Given the description of an element on the screen output the (x, y) to click on. 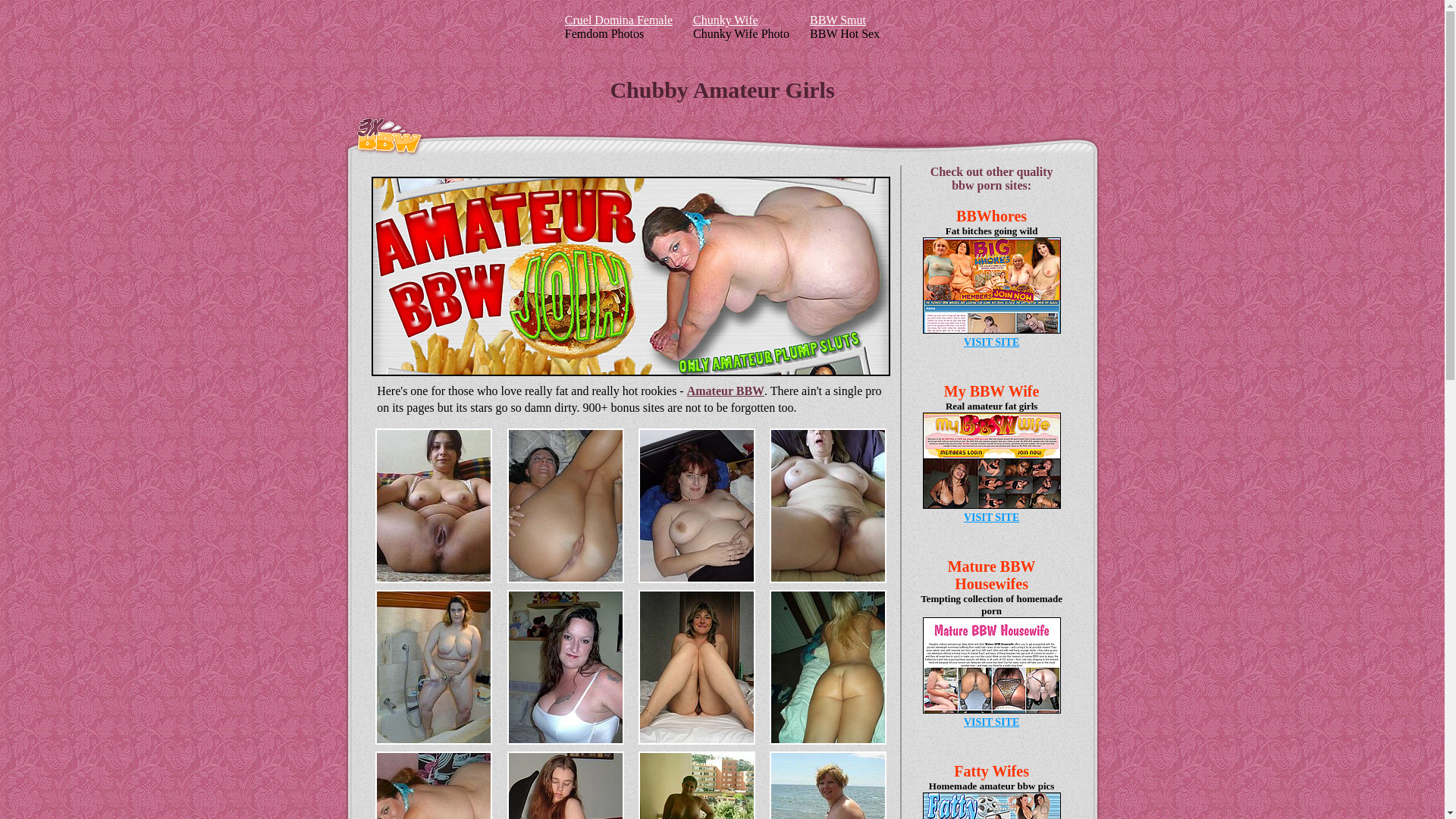
VISIT SITE Element type: text (991, 342)
Amateur BBW Element type: text (725, 390)
VISIT SITE Element type: text (991, 517)
Chunky Wife Element type: text (725, 19)
VISIT SITE Element type: text (991, 722)
BBW Smut Element type: text (837, 19)
Cruel Domina Female Element type: text (618, 19)
